Given the description of an element on the screen output the (x, y) to click on. 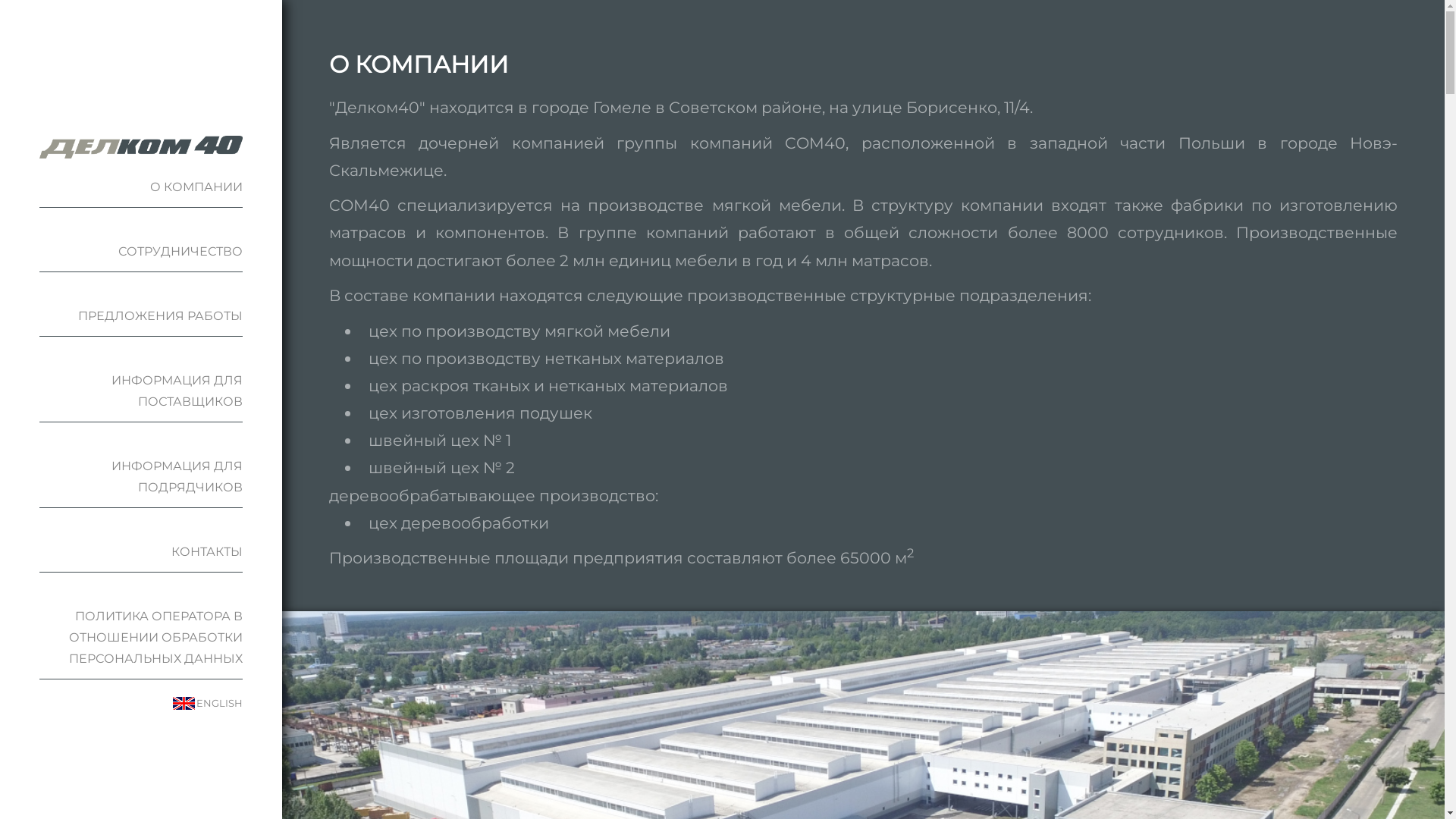
ENGLISH Element type: text (219, 702)
